Given the description of an element on the screen output the (x, y) to click on. 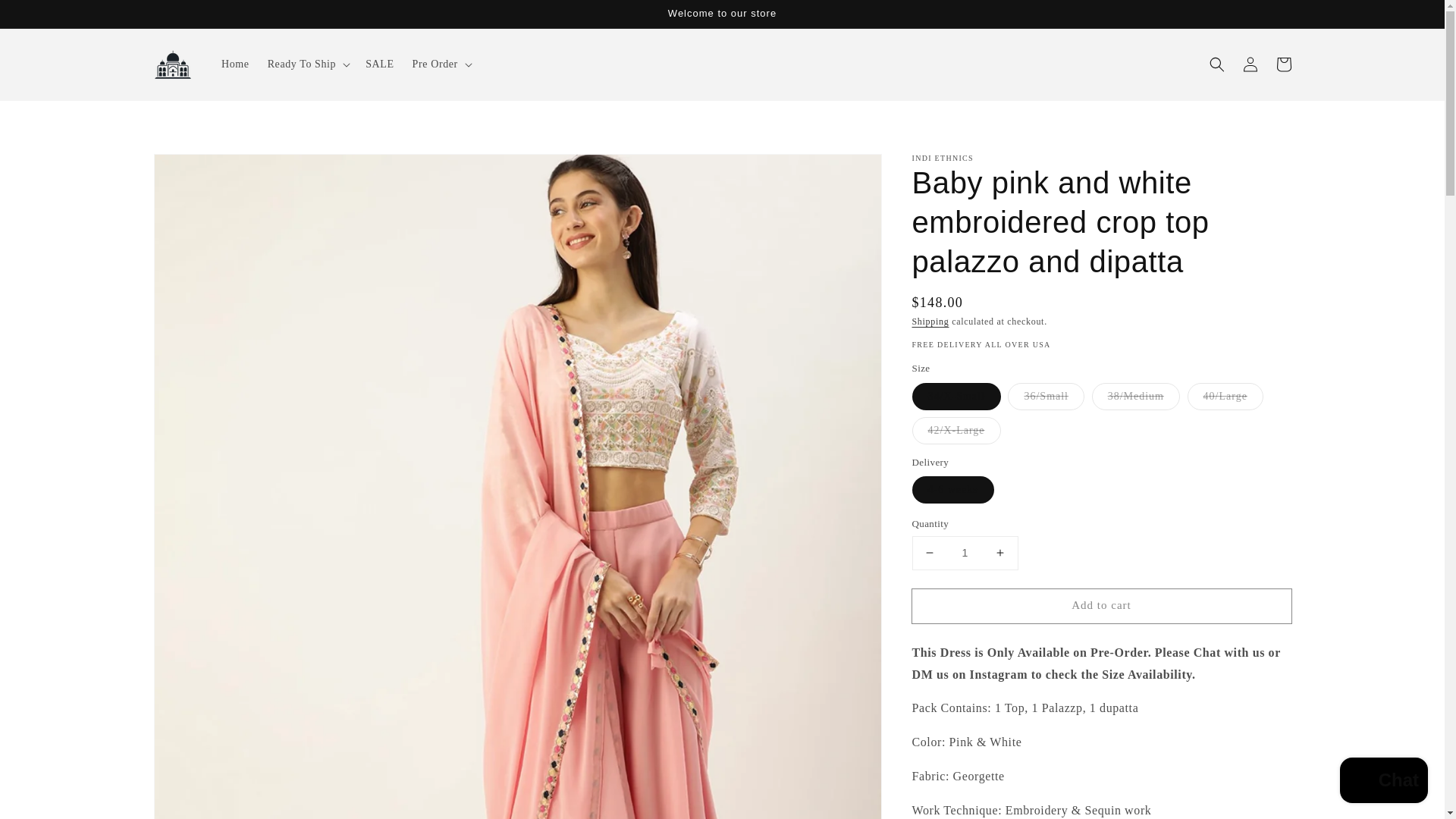
Home (235, 64)
Skip to content (45, 16)
1 (964, 553)
Shopify online store chat (1383, 781)
